Given the description of an element on the screen output the (x, y) to click on. 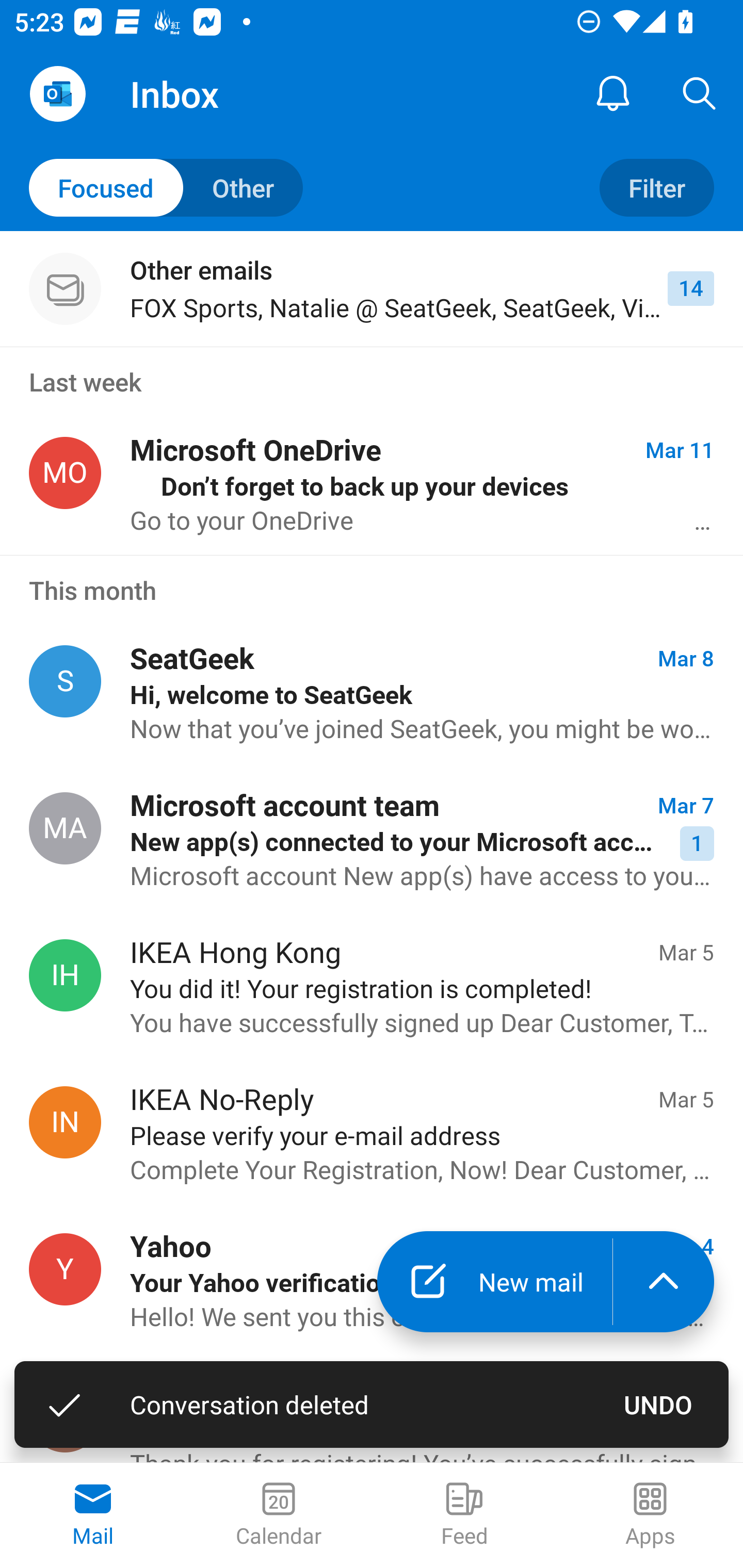
Notification Center (612, 93)
Search, ,  (699, 93)
Open Navigation Drawer (57, 94)
Toggle to other mails (165, 187)
Filter (656, 187)
SeatGeek, events@seatgeek.com (64, 682)
IKEA Hong Kong, IKHK_AWS@ikea.com.hk (64, 975)
IKEA No-Reply, noreply@ikea.com.hk (64, 1122)
New mail (494, 1281)
launch the extended action menu (663, 1281)
Yahoo, no-reply@cc.yahoo-inc.com (64, 1270)
UNDO (658, 1404)
The Weather Channel, noreply@weather.com (64, 1415)
Calendar (278, 1515)
Feed (464, 1515)
Apps (650, 1515)
